Given the description of an element on the screen output the (x, y) to click on. 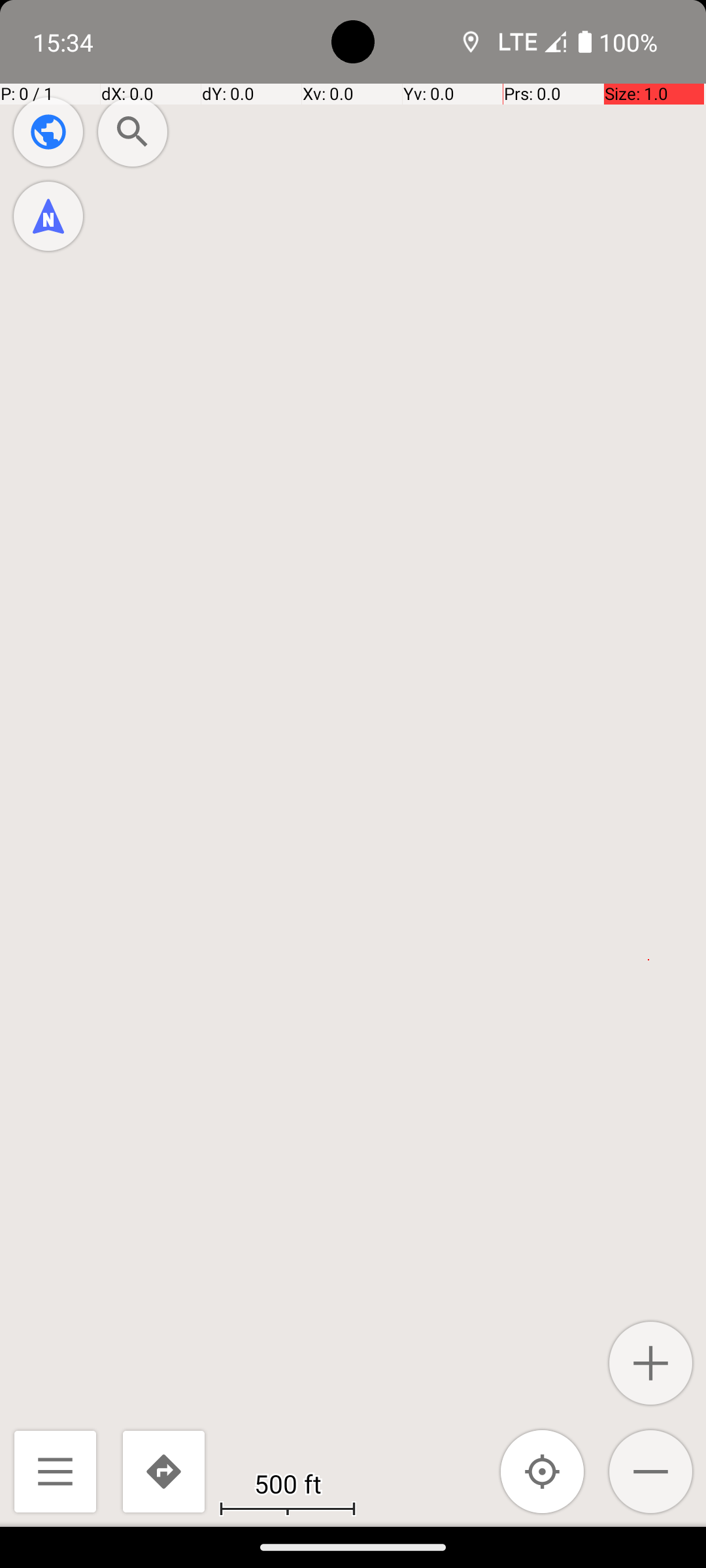
Movement direction Element type: android.widget.ImageButton (48, 216)
500 ft Element type: android.widget.TextView (287, 1483)
Where am I Element type: android.widget.ImageButton (542, 1471)
